Given the description of an element on the screen output the (x, y) to click on. 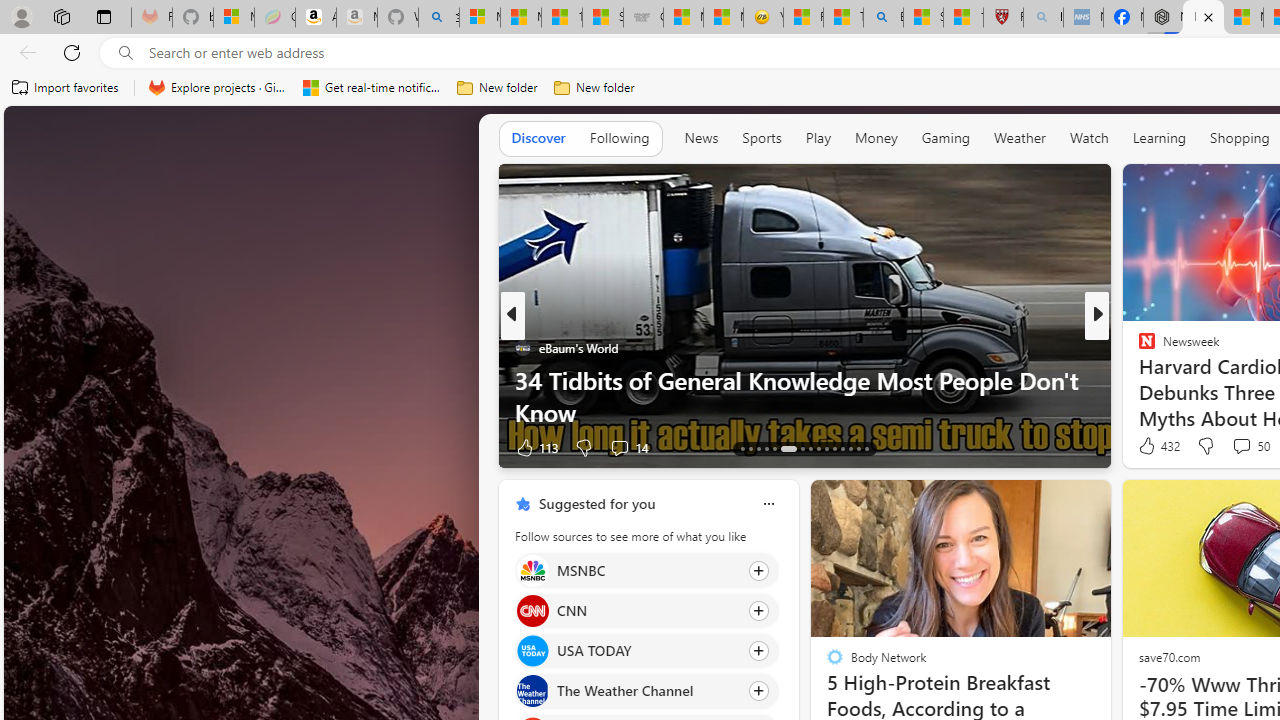
AutomationID: tab-77 (842, 448)
Click to follow source MSNBC (646, 570)
1 Like (1145, 447)
Click to follow source USA TODAY (646, 651)
View comments 28 Comment (1237, 447)
AutomationID: tab-66 (742, 448)
Stocks - MSN (602, 17)
View comments 64 Comment (11, 447)
256 Like (1151, 447)
AutomationID: tab-81 (865, 448)
Weather (1019, 138)
